Given the description of an element on the screen output the (x, y) to click on. 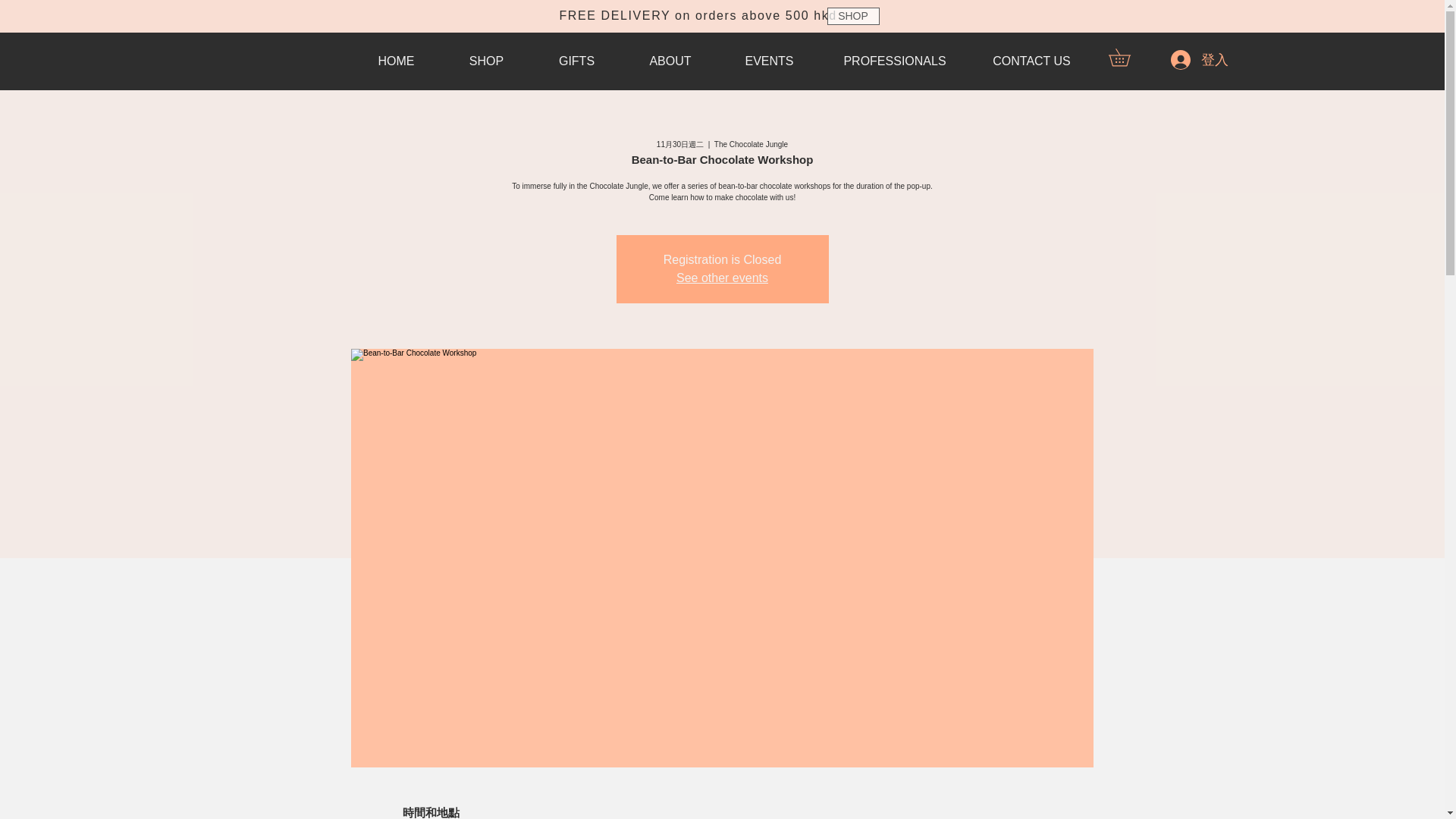
See other events (722, 277)
FREE DELIVERY on orders above 500 hkd (698, 15)
GIFTS (576, 60)
SHOP (853, 16)
HOME (395, 60)
SHOP (486, 60)
CONTACT US (1031, 60)
